Given the description of an element on the screen output the (x, y) to click on. 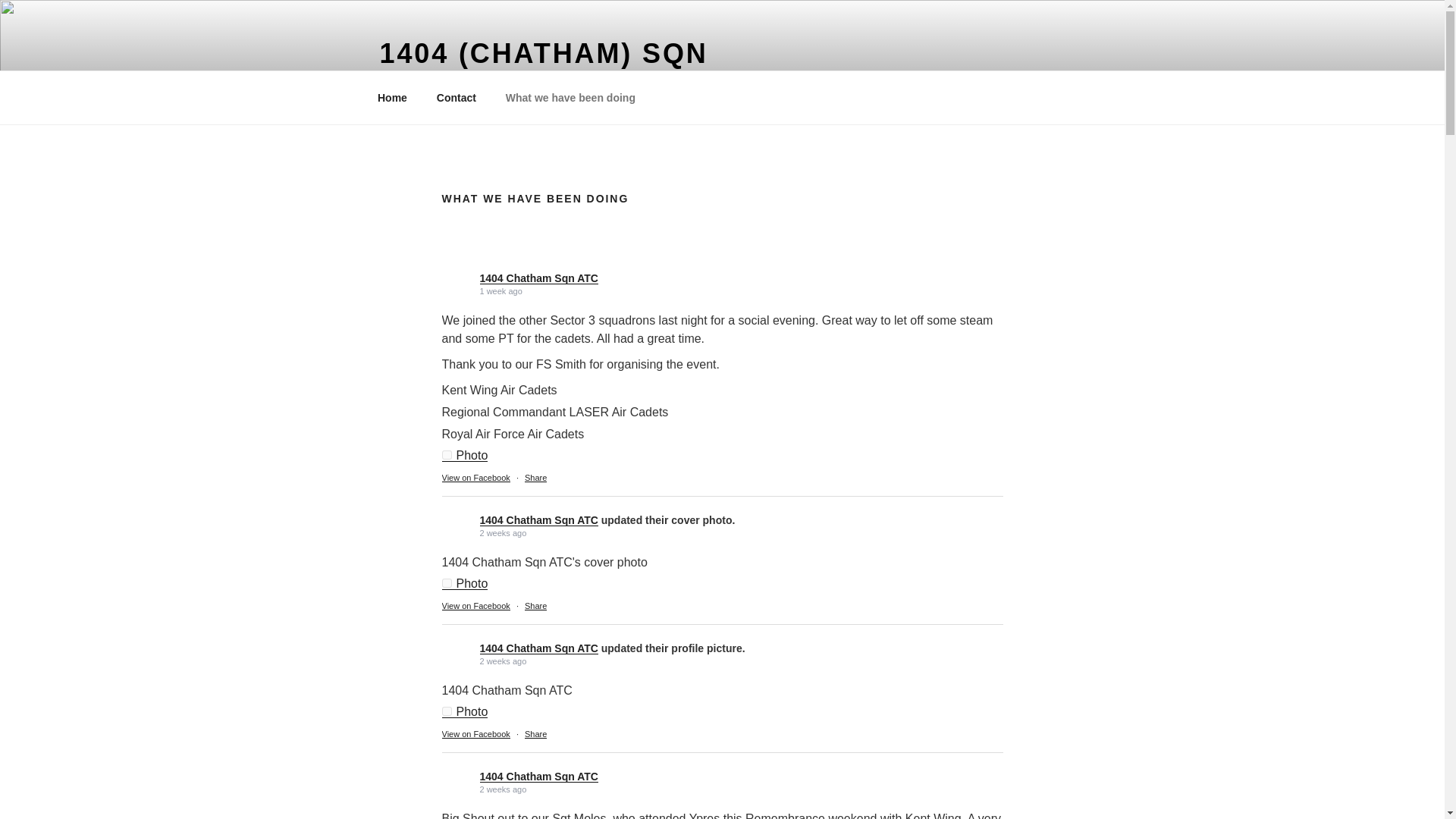
1404 Chatham Sqn ATC Element type: text (538, 278)
View on Facebook Element type: text (475, 477)
Home Element type: text (392, 97)
1404 Chatham Sqn ATC Element type: text (538, 776)
Share Element type: text (535, 477)
Photo Element type: text (464, 454)
Share Element type: text (535, 733)
Contact Element type: text (456, 97)
View on Facebook Element type: text (475, 605)
View on Facebook Element type: text (475, 733)
Photo Element type: text (464, 583)
1404 Chatham Sqn ATC Element type: text (538, 520)
1404 (CHATHAM) SQN Element type: text (543, 53)
Share Element type: text (535, 605)
1404 Chatham Sqn ATC Element type: text (538, 648)
What we have been doing Element type: text (570, 97)
Photo Element type: text (464, 711)
